Given the description of an element on the screen output the (x, y) to click on. 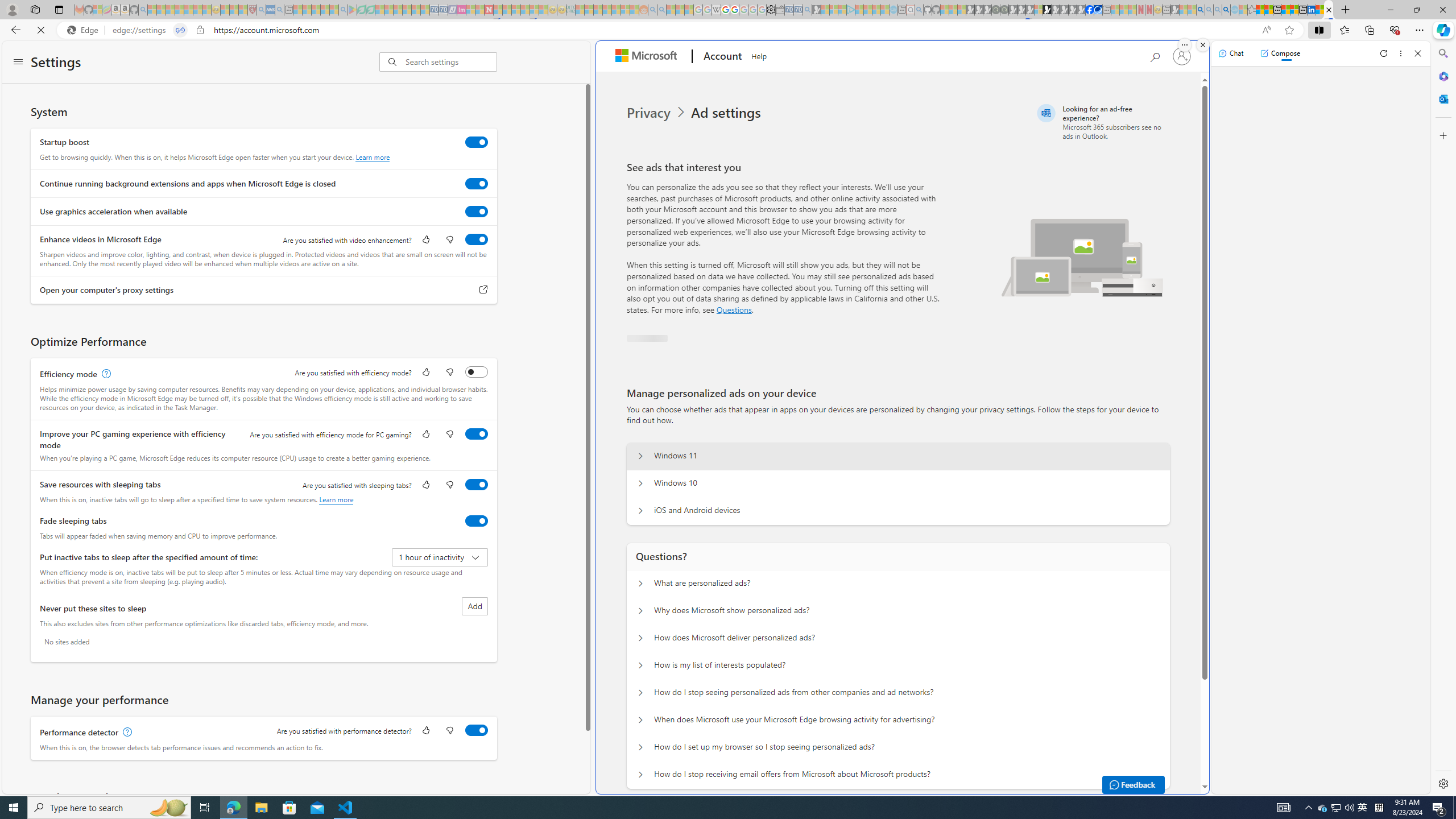
Startup boost (476, 142)
Save resources with sleeping tabs (476, 484)
DITOGAMES AG Imprint - Sleeping (570, 9)
New Report Confirms 2023 Was Record Hot | Watch - Sleeping (188, 9)
Illustration of multiple devices (1082, 256)
Favorites - Sleeping (1251, 9)
Ad settings (727, 112)
